Given the description of an element on the screen output the (x, y) to click on. 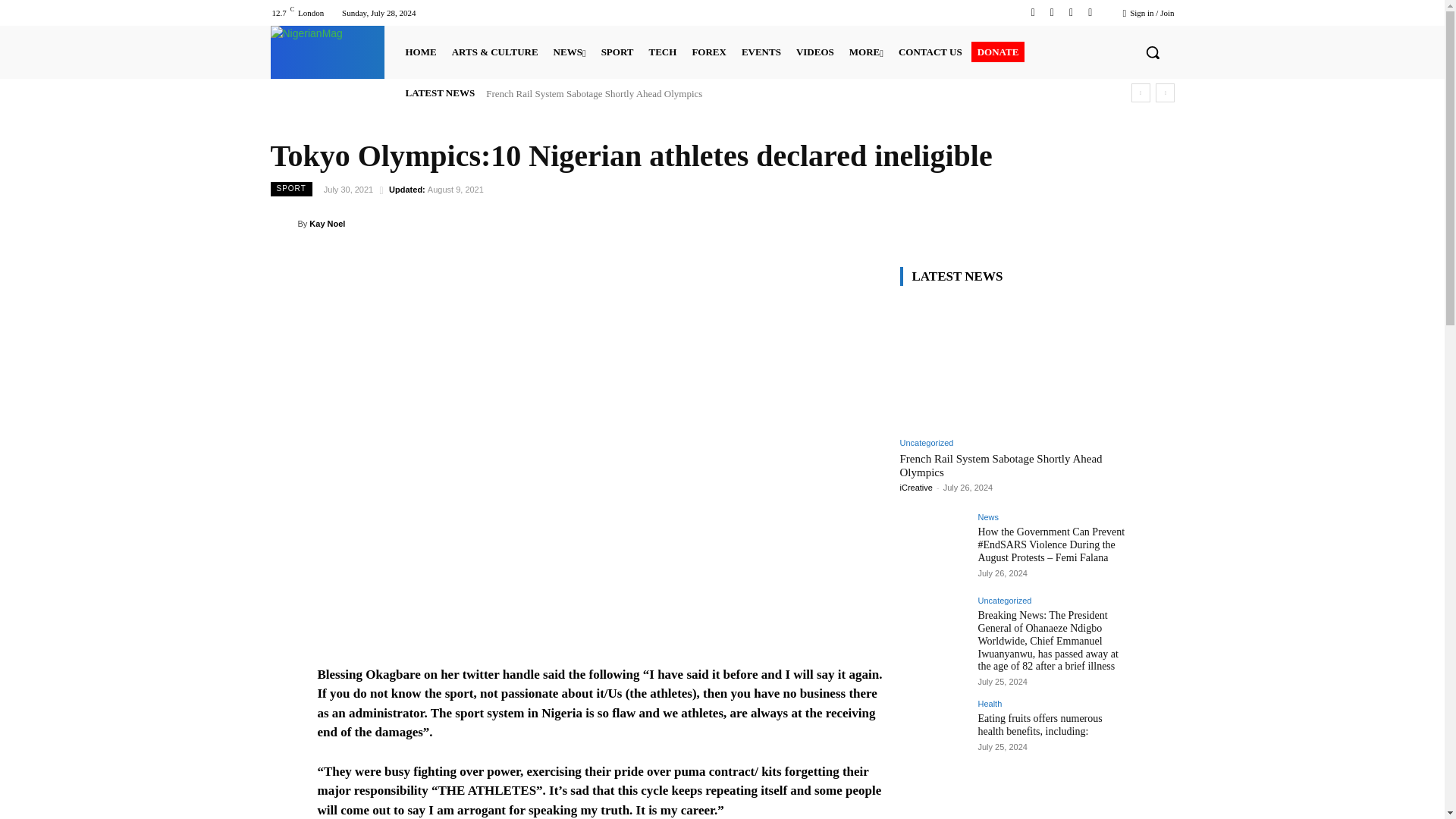
HOME (420, 51)
NEWS (569, 51)
Instagram (1051, 12)
Facebook (1032, 12)
